Given the description of an element on the screen output the (x, y) to click on. 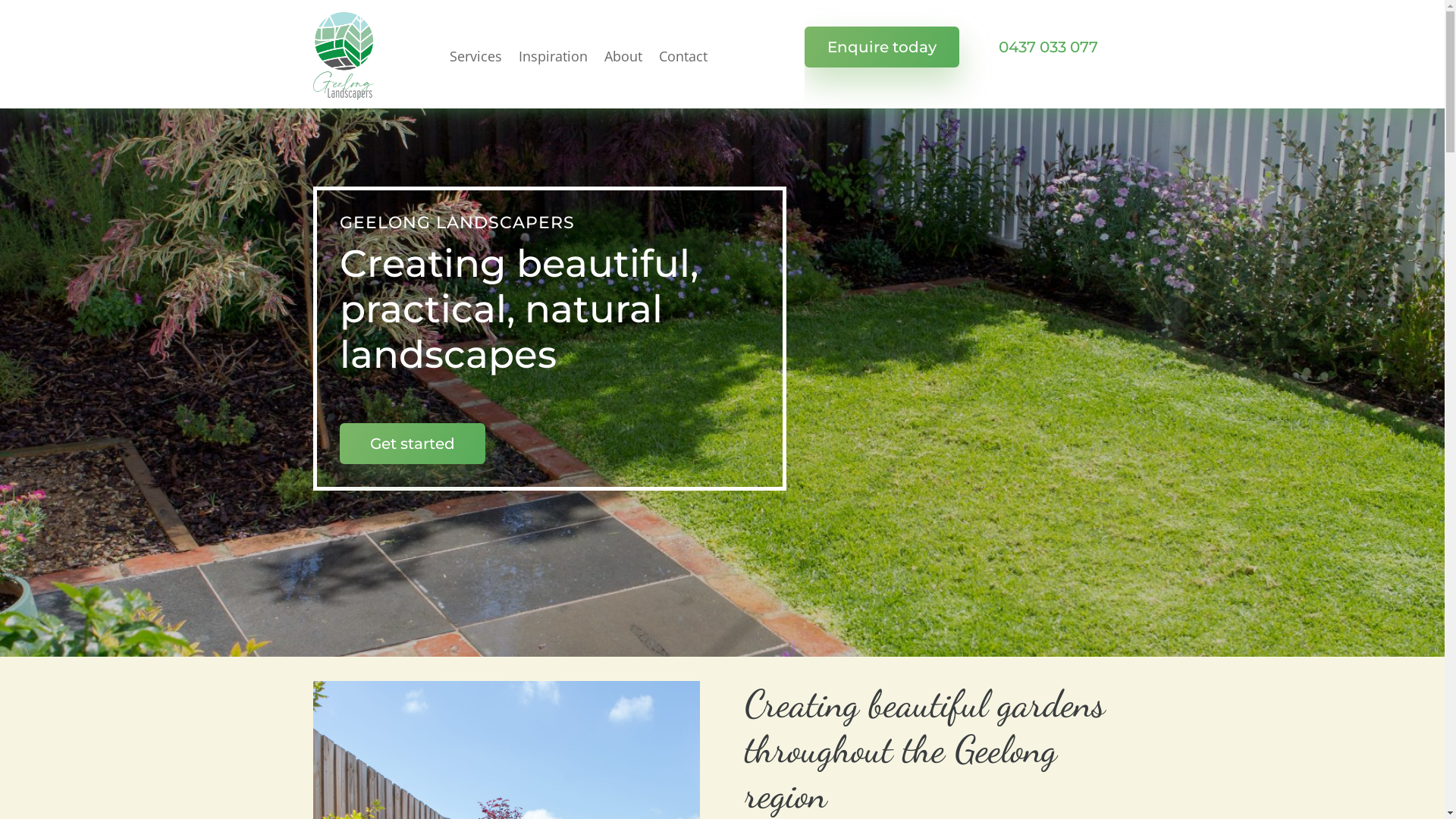
About Element type: text (622, 56)
0437 033 077 Element type: text (1047, 46)
Get started Element type: text (412, 443)
Contact Element type: text (682, 56)
Enquire today Element type: text (880, 46)
Services Element type: text (474, 56)
Inspiration Element type: text (552, 56)
